Given the description of an element on the screen output the (x, y) to click on. 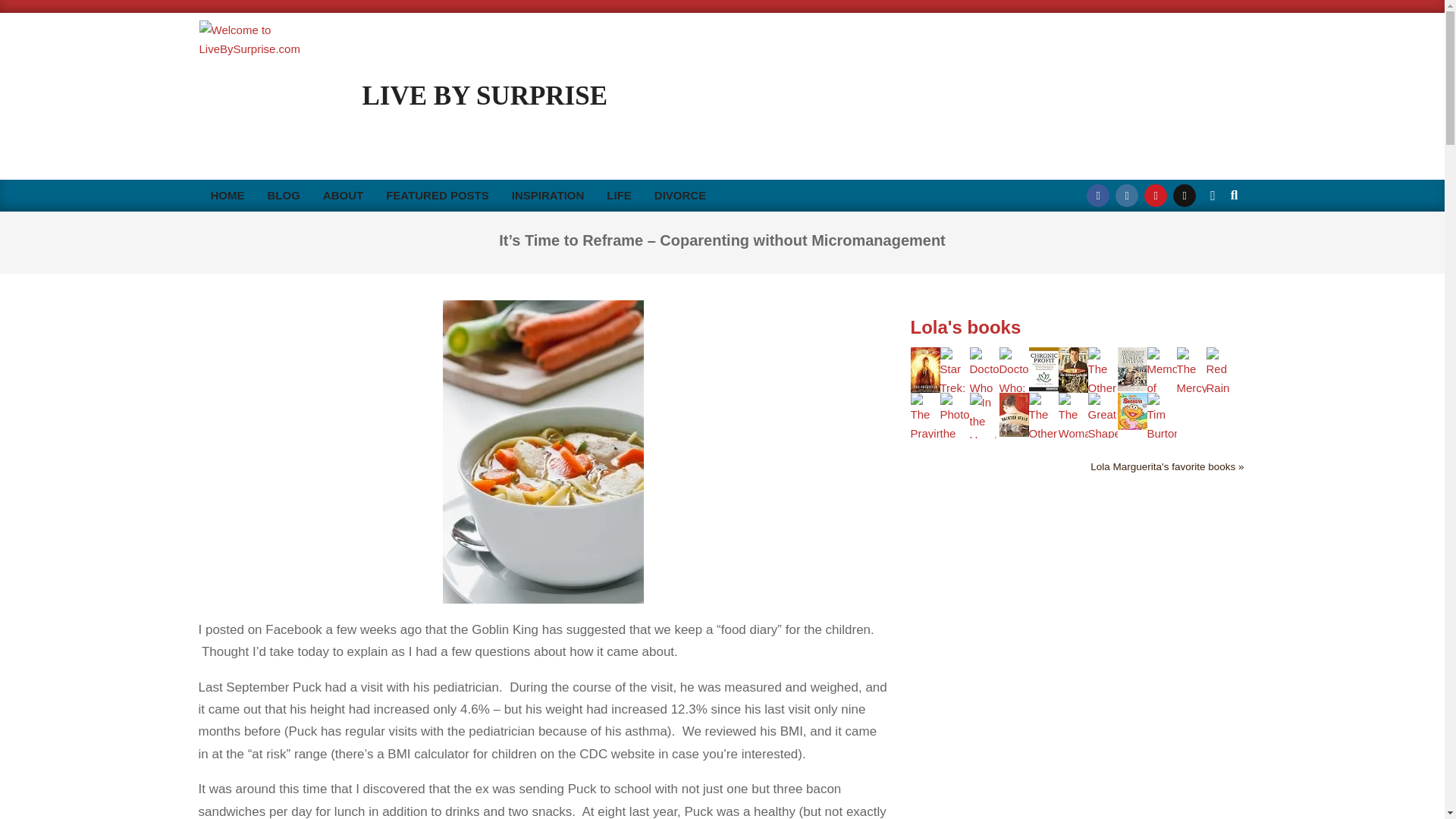
Doctor Who: The Eyeless (1013, 356)
BLOG (283, 195)
HOME (227, 195)
LIVE BY SURPRISE (485, 95)
Doctor Who: The Forgotten (924, 356)
FEATURED POSTS (437, 195)
Search (24, 9)
The Other Emily (1101, 356)
